Given the description of an element on the screen output the (x, y) to click on. 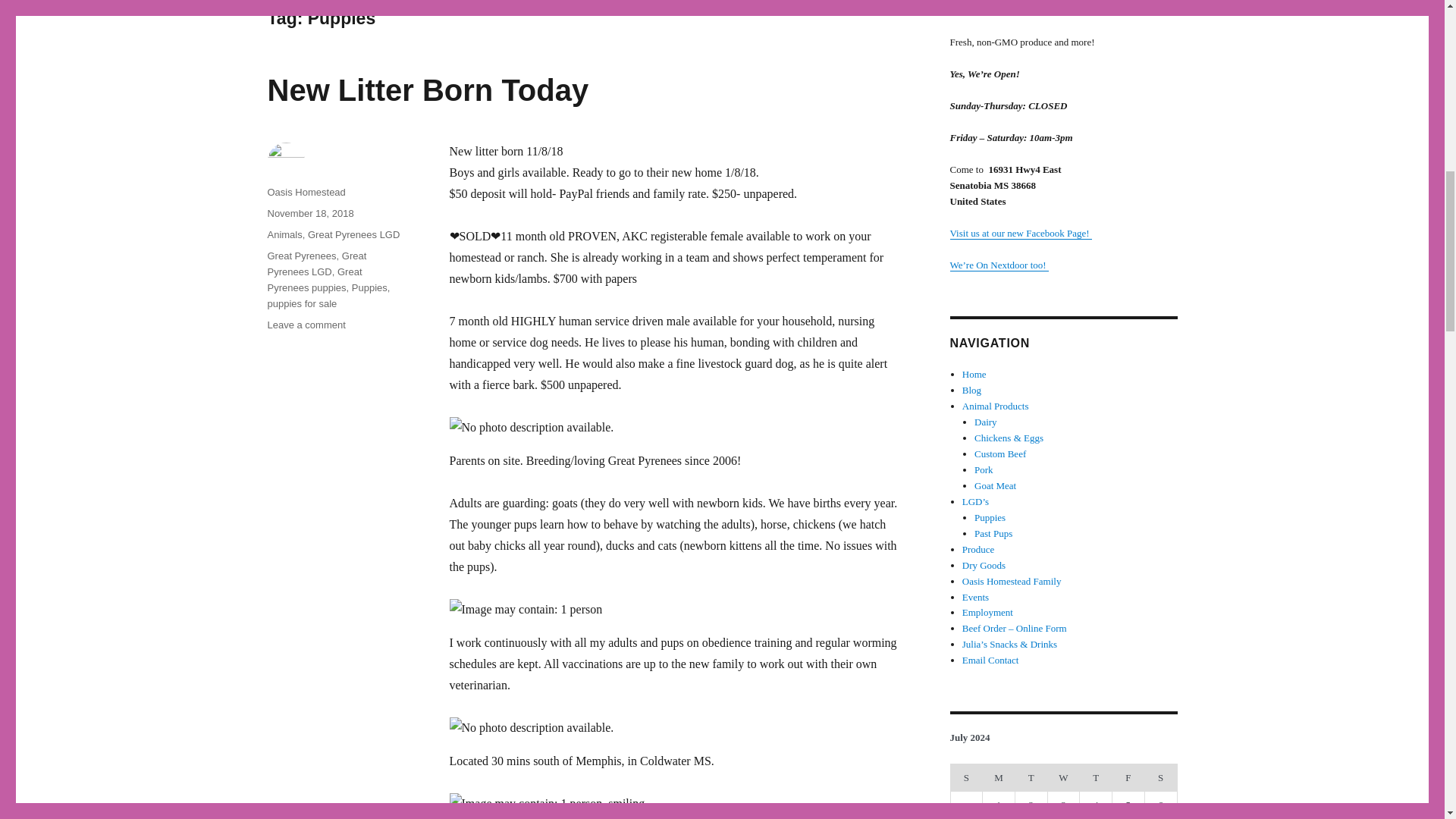
Saturday (1160, 777)
Tuesday (1030, 777)
Monday (998, 777)
Sunday (966, 777)
Friday (1128, 777)
Thursday (1096, 777)
Wednesday (1063, 777)
